Given the description of an element on the screen output the (x, y) to click on. 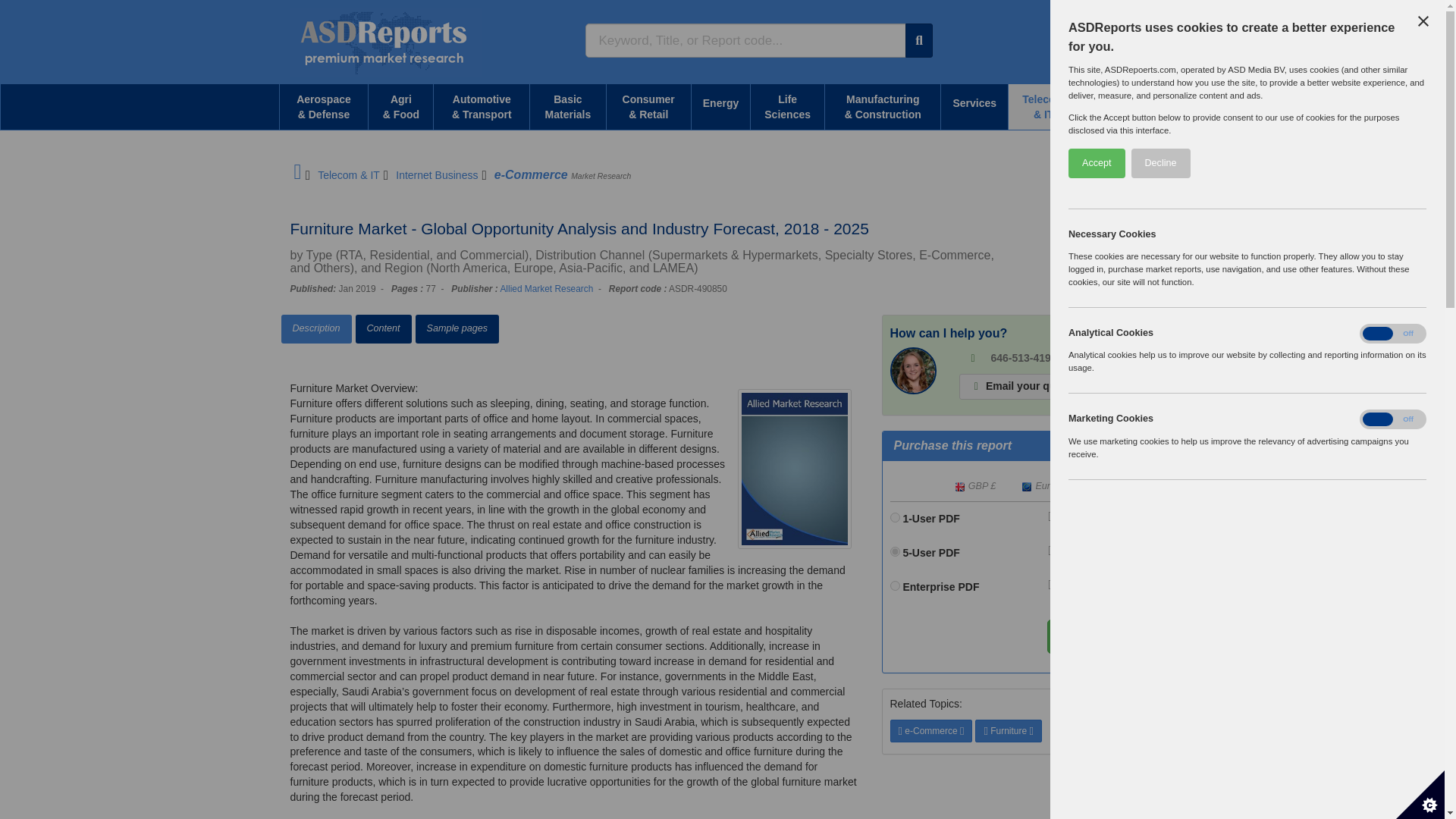
Accept (1367, 163)
xprice1 (894, 517)
xprice3 (894, 585)
Change currency to US Dollar (1107, 487)
Change currency to Euro (1042, 486)
Internet Business Market Research (436, 174)
e-Commerce Market Research (563, 174)
Change currency to GB Pound (975, 486)
